Given the description of an element on the screen output the (x, y) to click on. 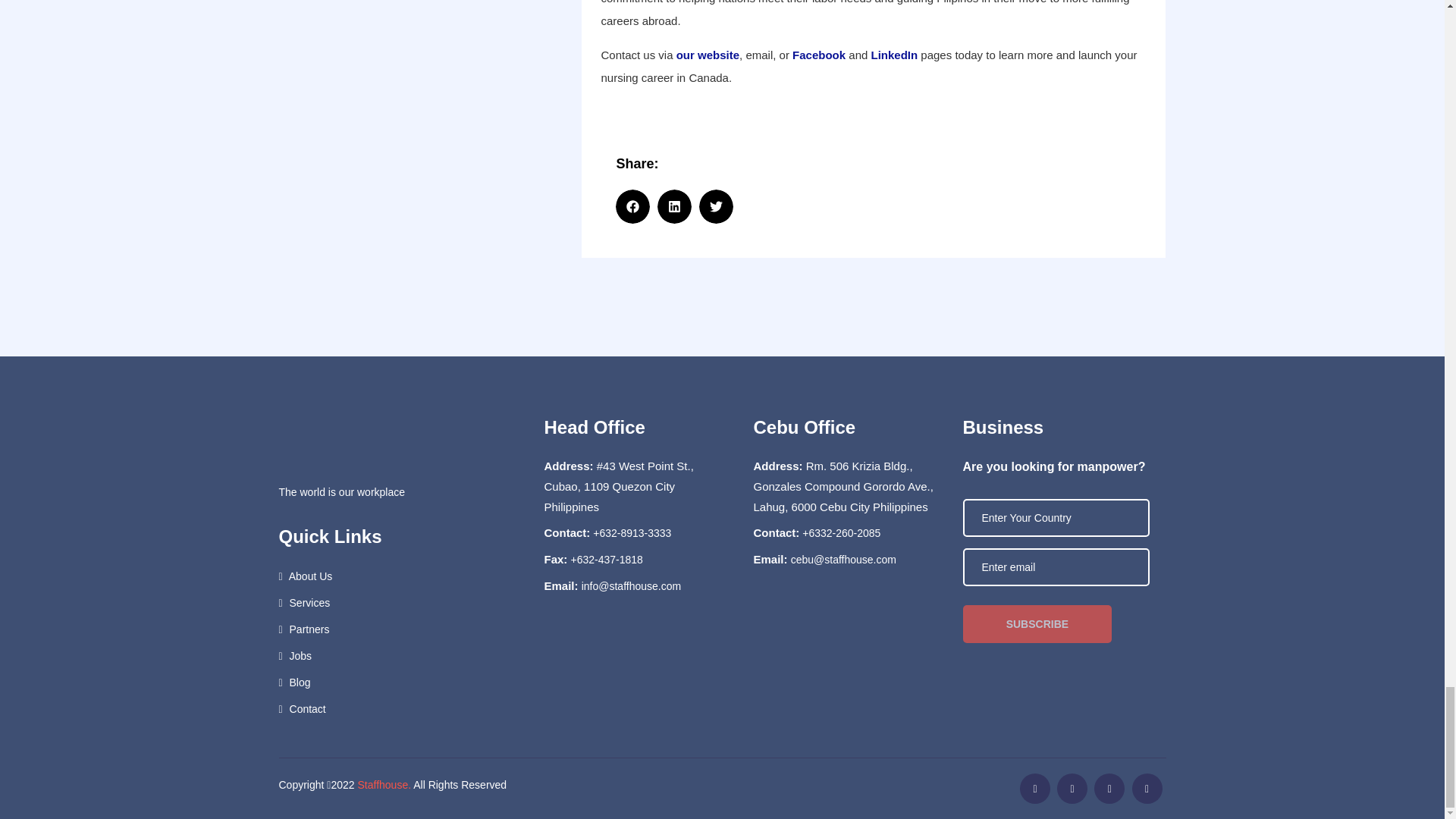
subscribe (1037, 623)
